Given the description of an element on the screen output the (x, y) to click on. 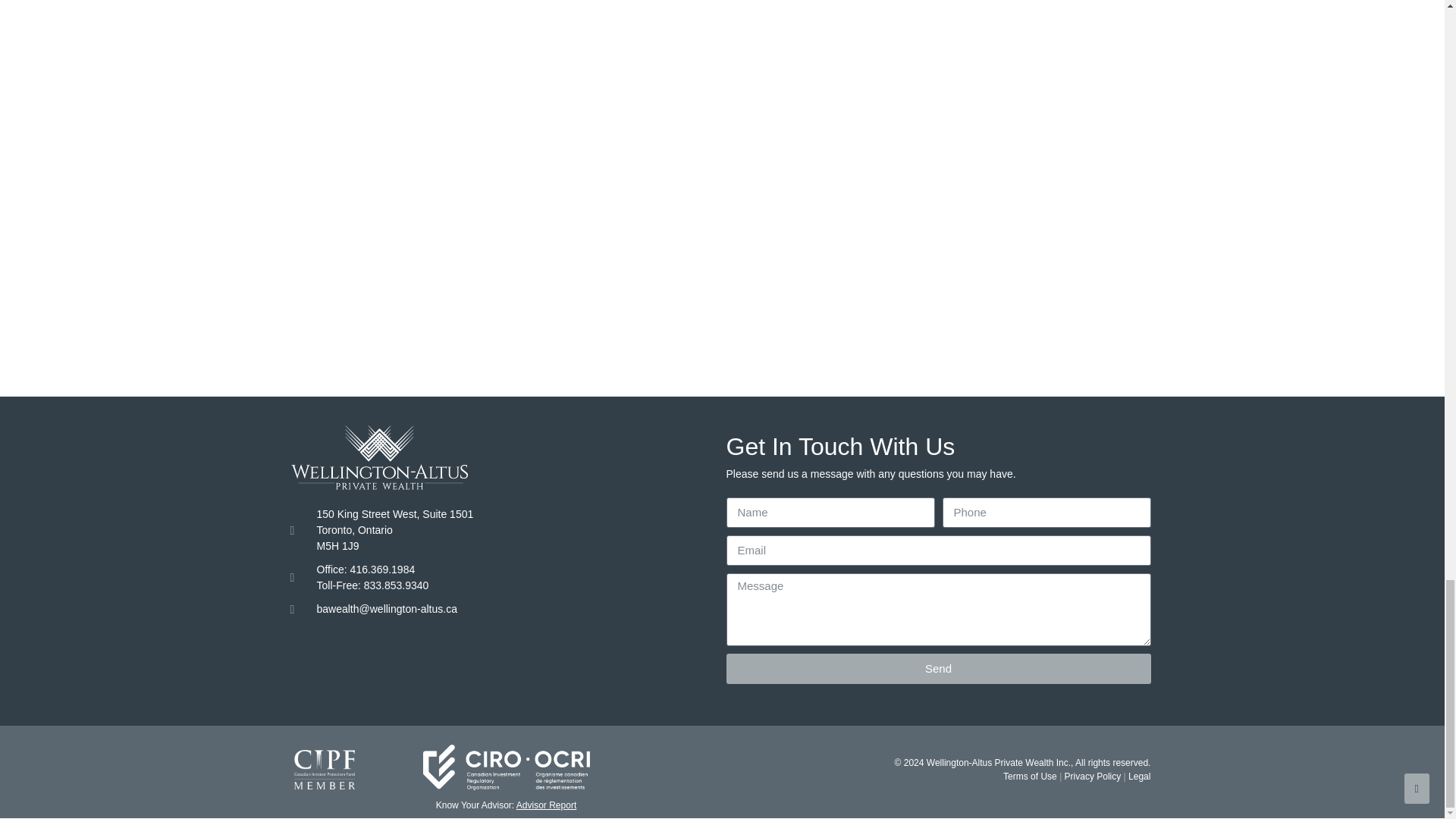
Know Your Advisor: Advisor Report (505, 805)
Send (938, 668)
Terms of Use (1030, 776)
Legal (1139, 776)
Privacy Policy (1091, 776)
